Given the description of an element on the screen output the (x, y) to click on. 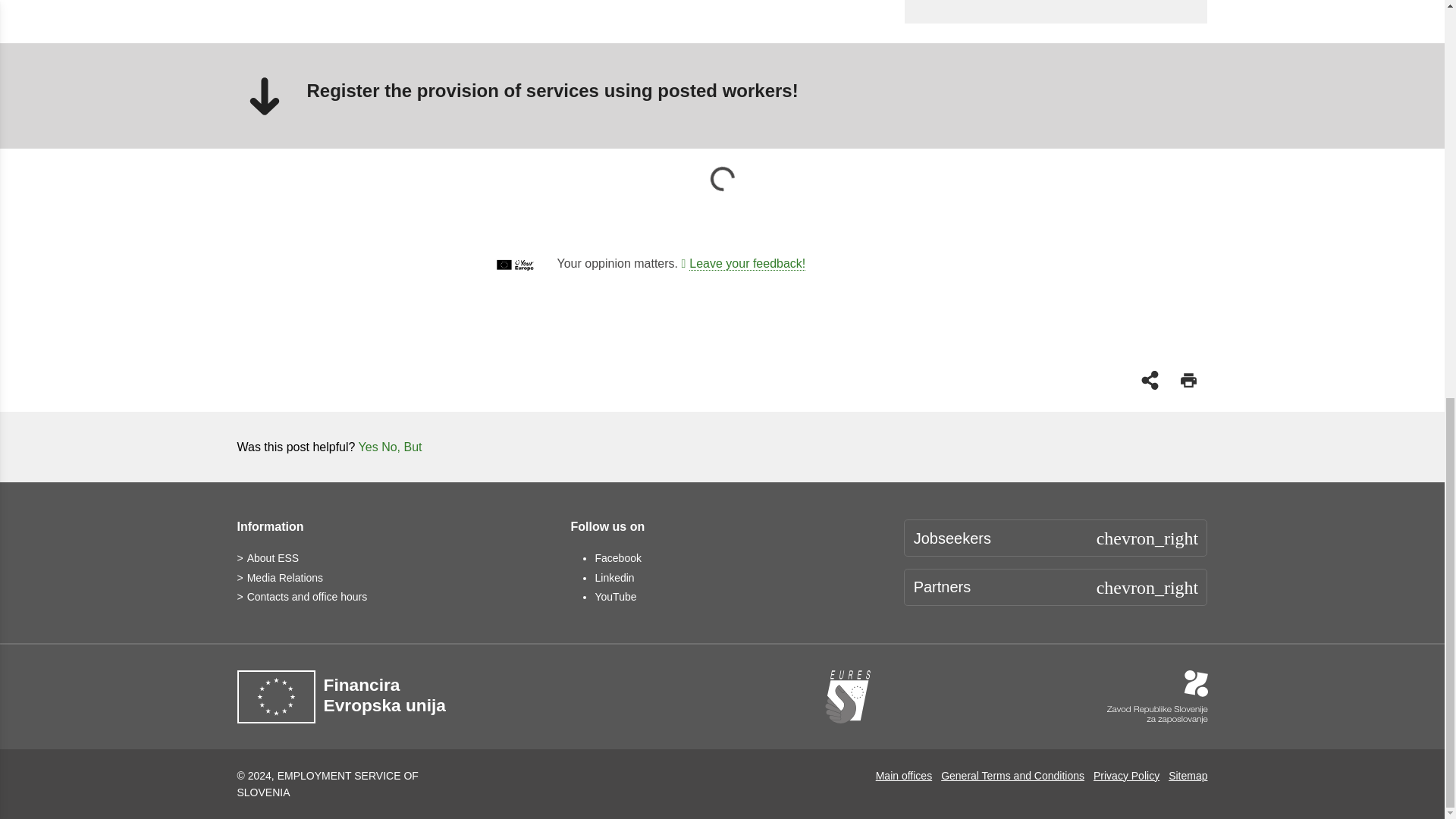
Print page (1188, 379)
Your Europe Single Digital Gateway (743, 263)
Leave your feedback! (743, 263)
Link to Media Relations (279, 577)
Link to About ESS (266, 558)
Loading... (722, 178)
